Given the description of an element on the screen output the (x, y) to click on. 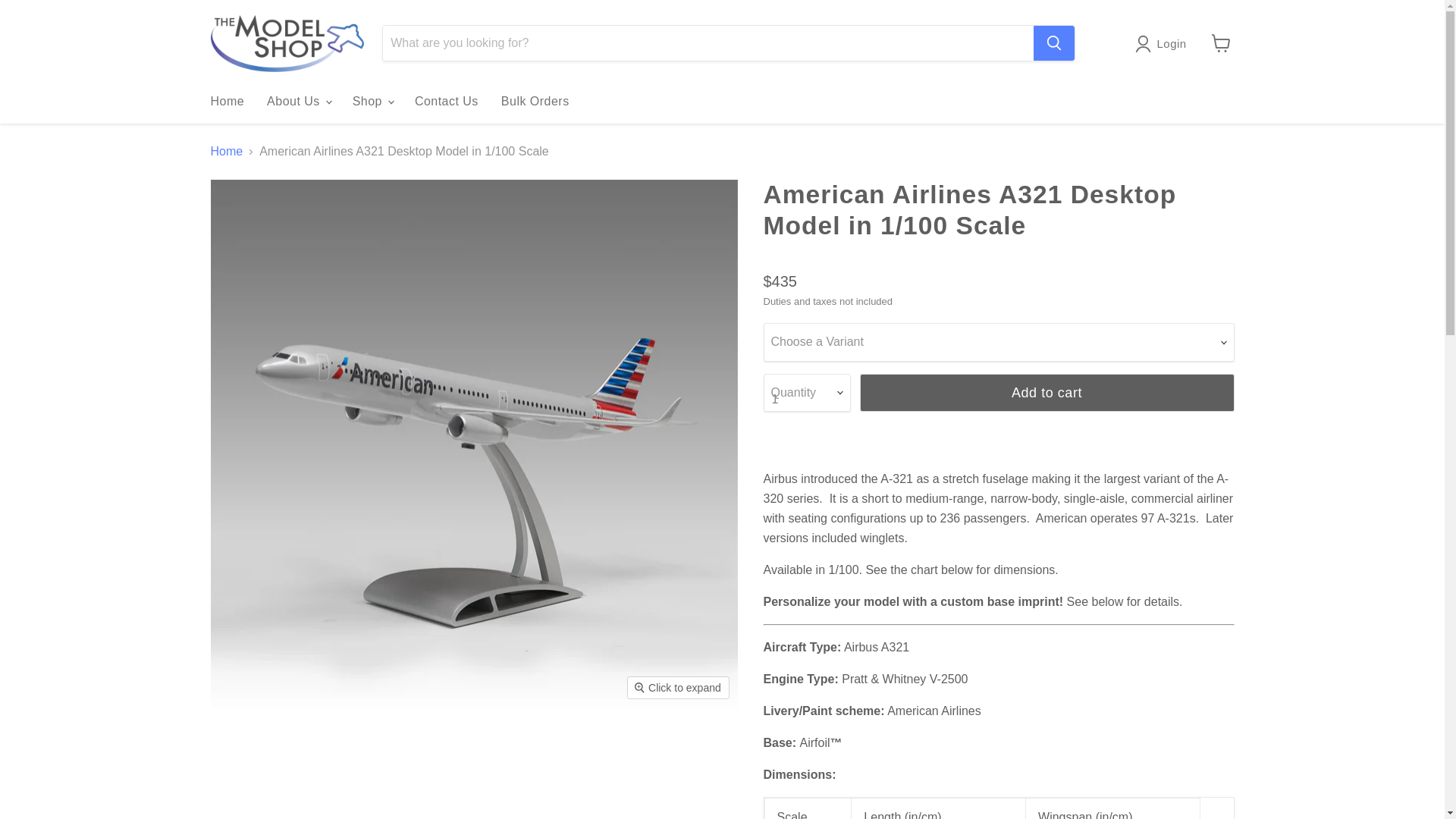
Login (1171, 44)
Bulk Orders (534, 101)
Contact Us (446, 101)
View cart (1221, 42)
Home (227, 101)
